Given the description of an element on the screen output the (x, y) to click on. 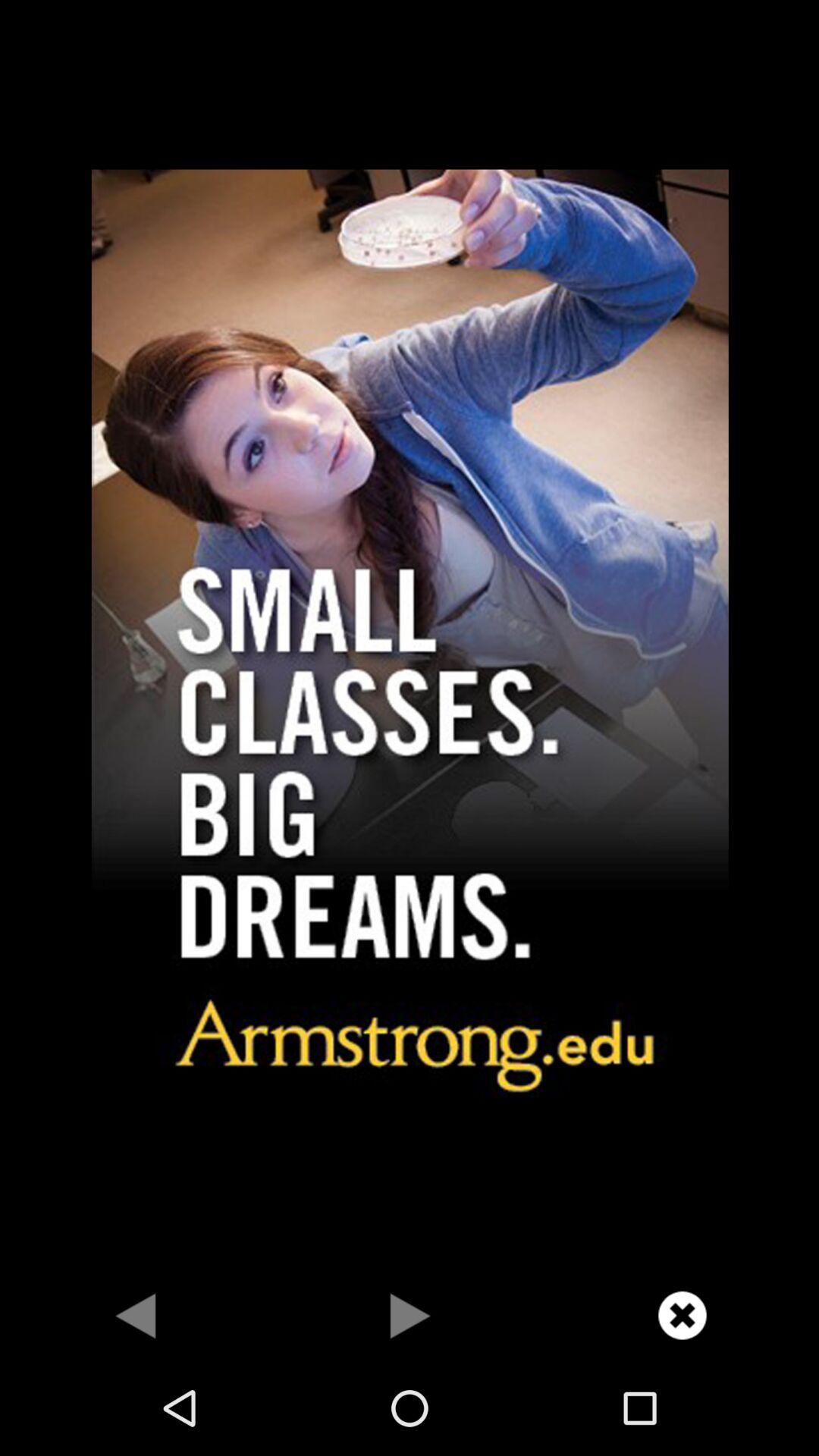
advertisement area (409, 635)
